Given the description of an element on the screen output the (x, y) to click on. 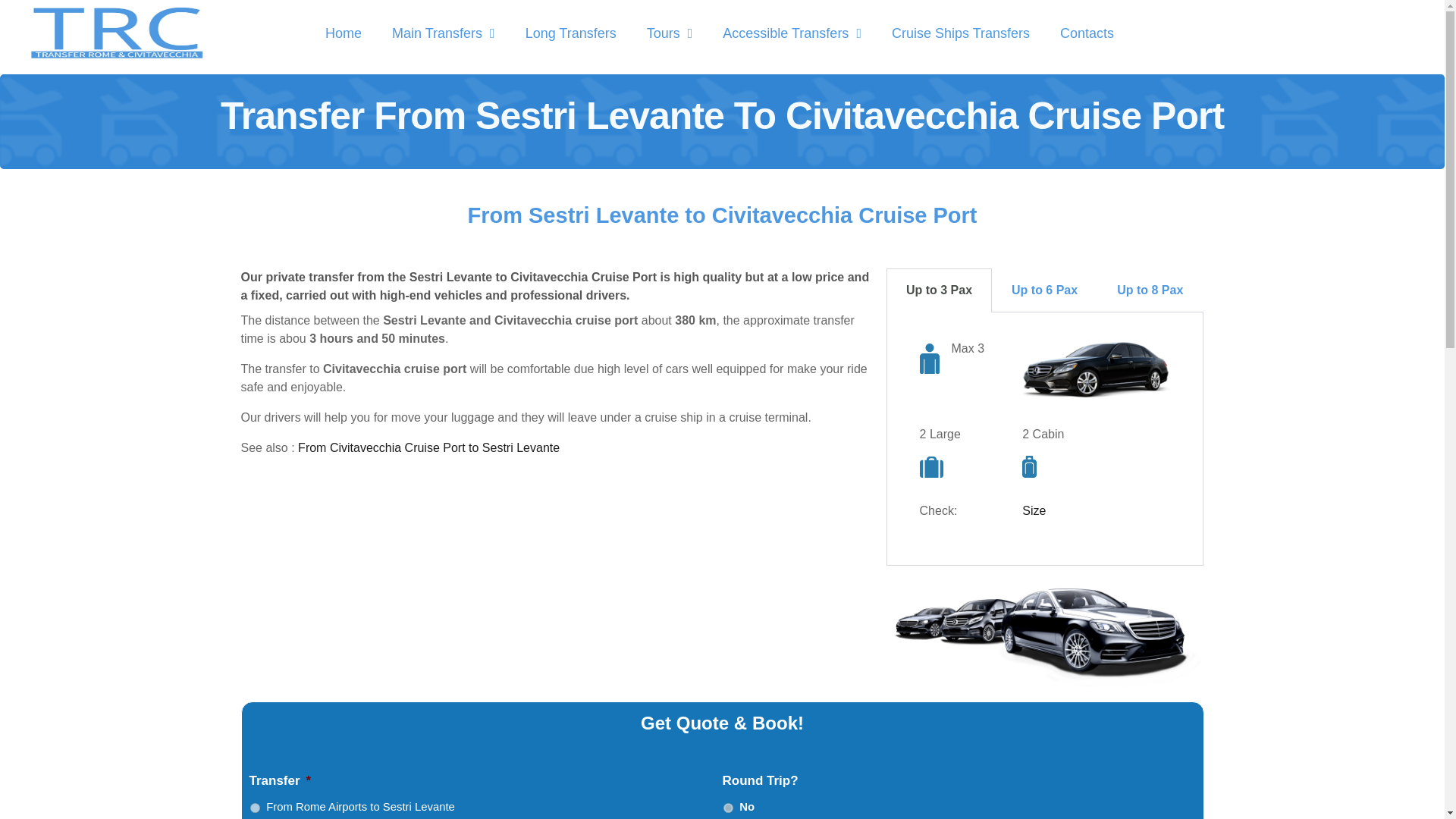
Main Transfers (444, 32)
transfers cruise port (343, 32)
Home (343, 32)
Main Destination (444, 32)
No (728, 808)
fromairports (255, 808)
